Given the description of an element on the screen output the (x, y) to click on. 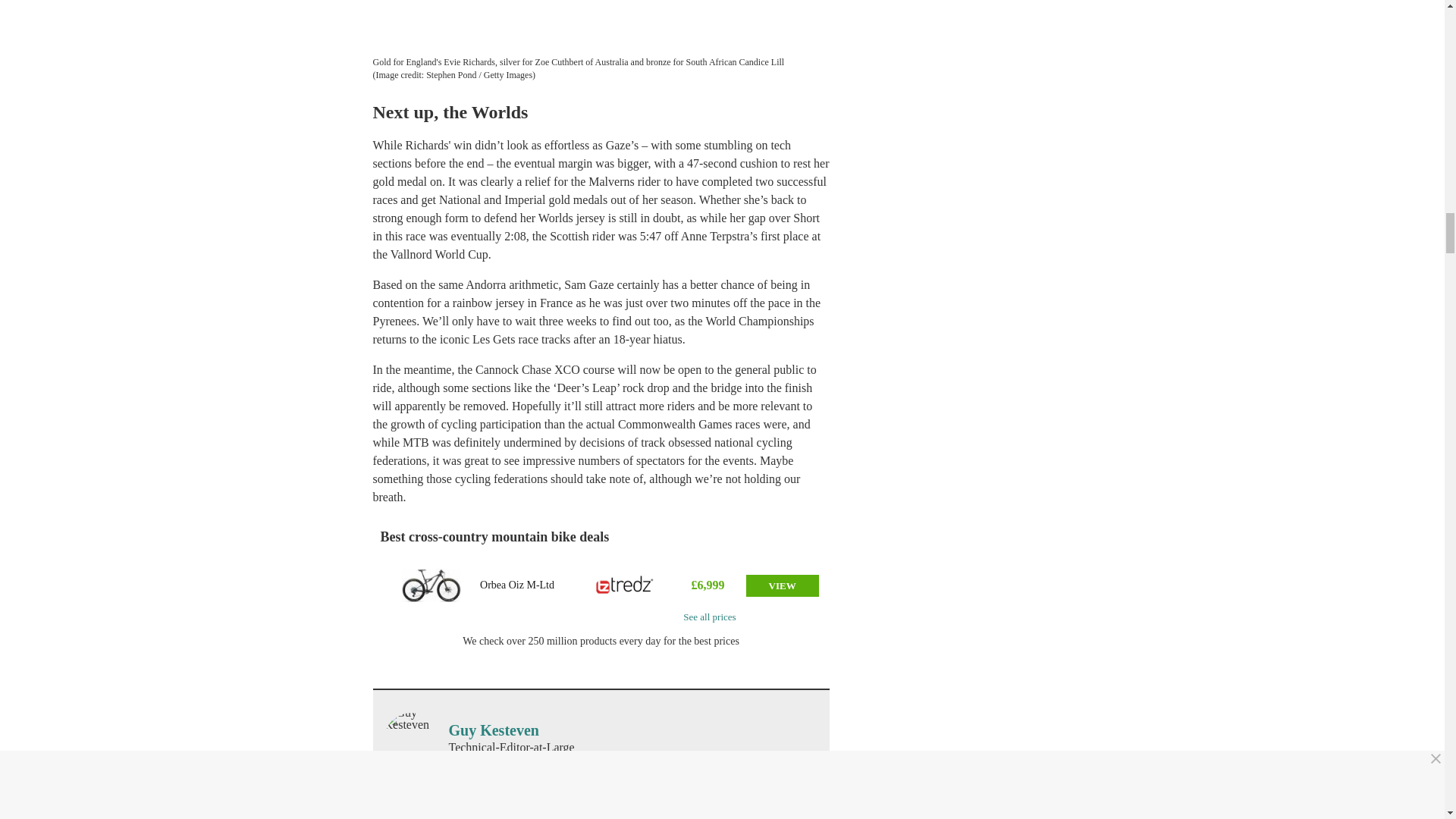
Tredz Limited (624, 585)
VIEW (781, 585)
Orbea Oiz 29 M-Ltd 29"... (431, 584)
Orbea Oiz M-Ltd (517, 585)
